Given the description of an element on the screen output the (x, y) to click on. 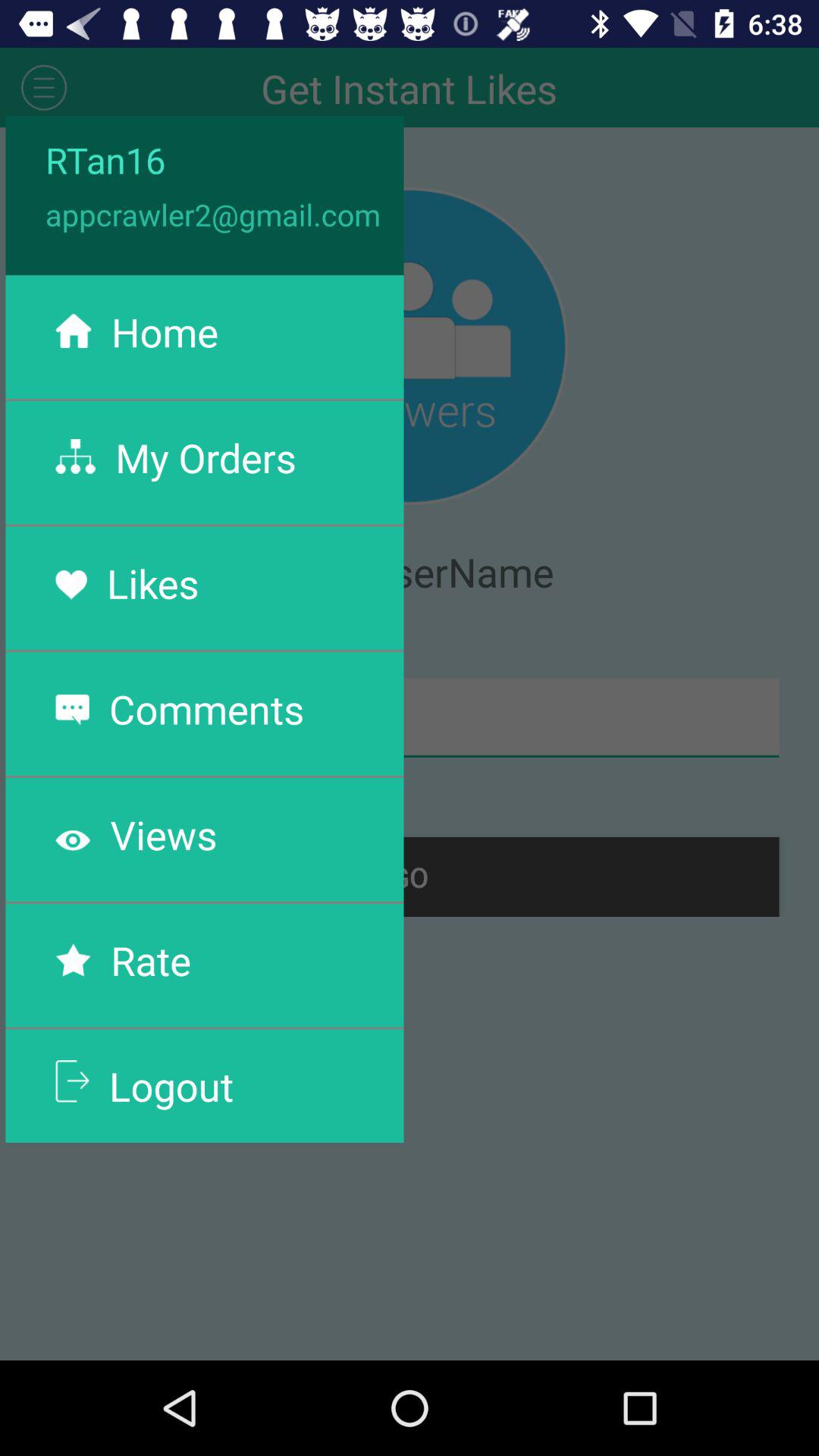
flip to the views (163, 834)
